Given the description of an element on the screen output the (x, y) to click on. 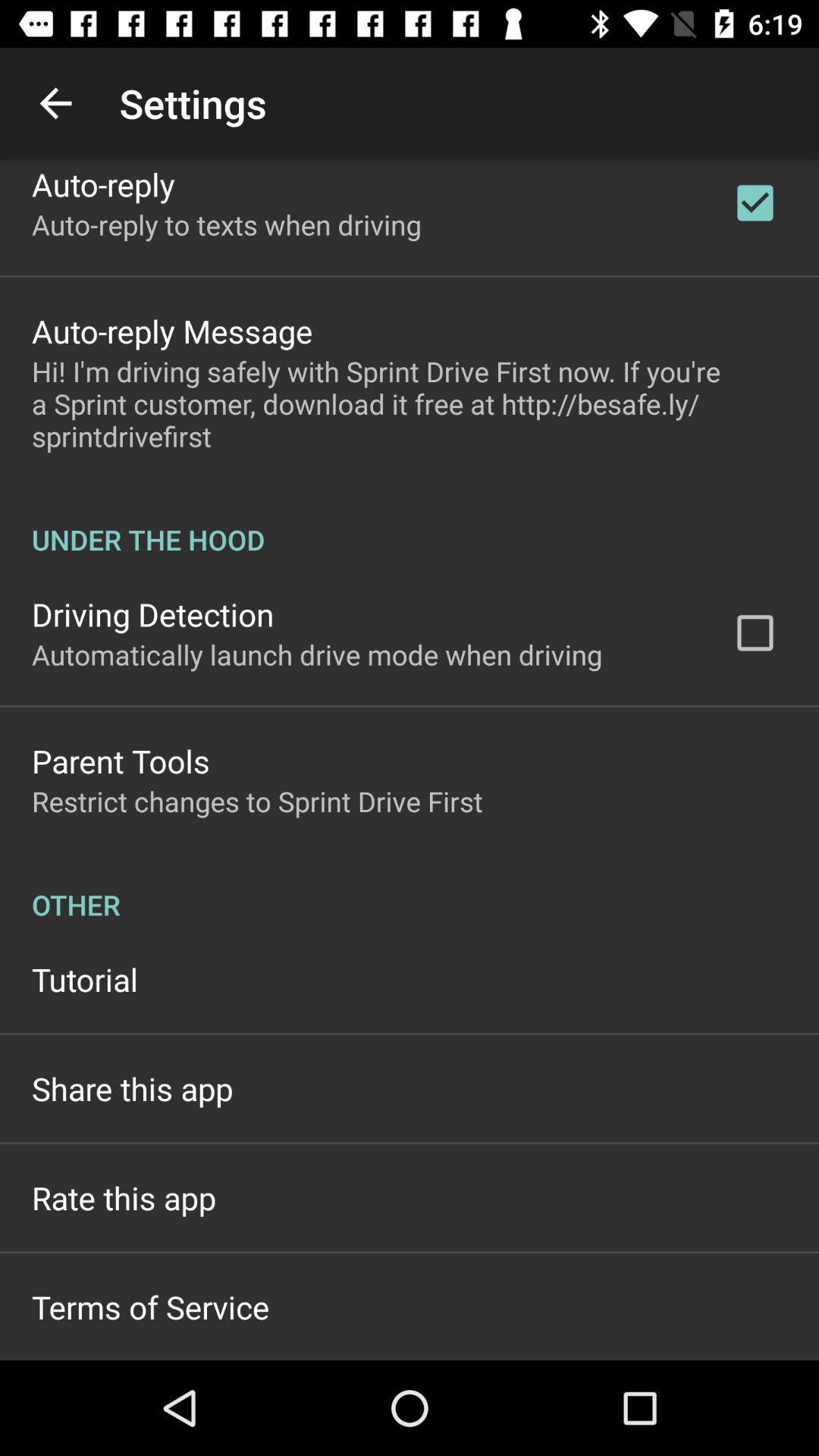
choose item above the auto-reply app (55, 103)
